Given the description of an element on the screen output the (x, y) to click on. 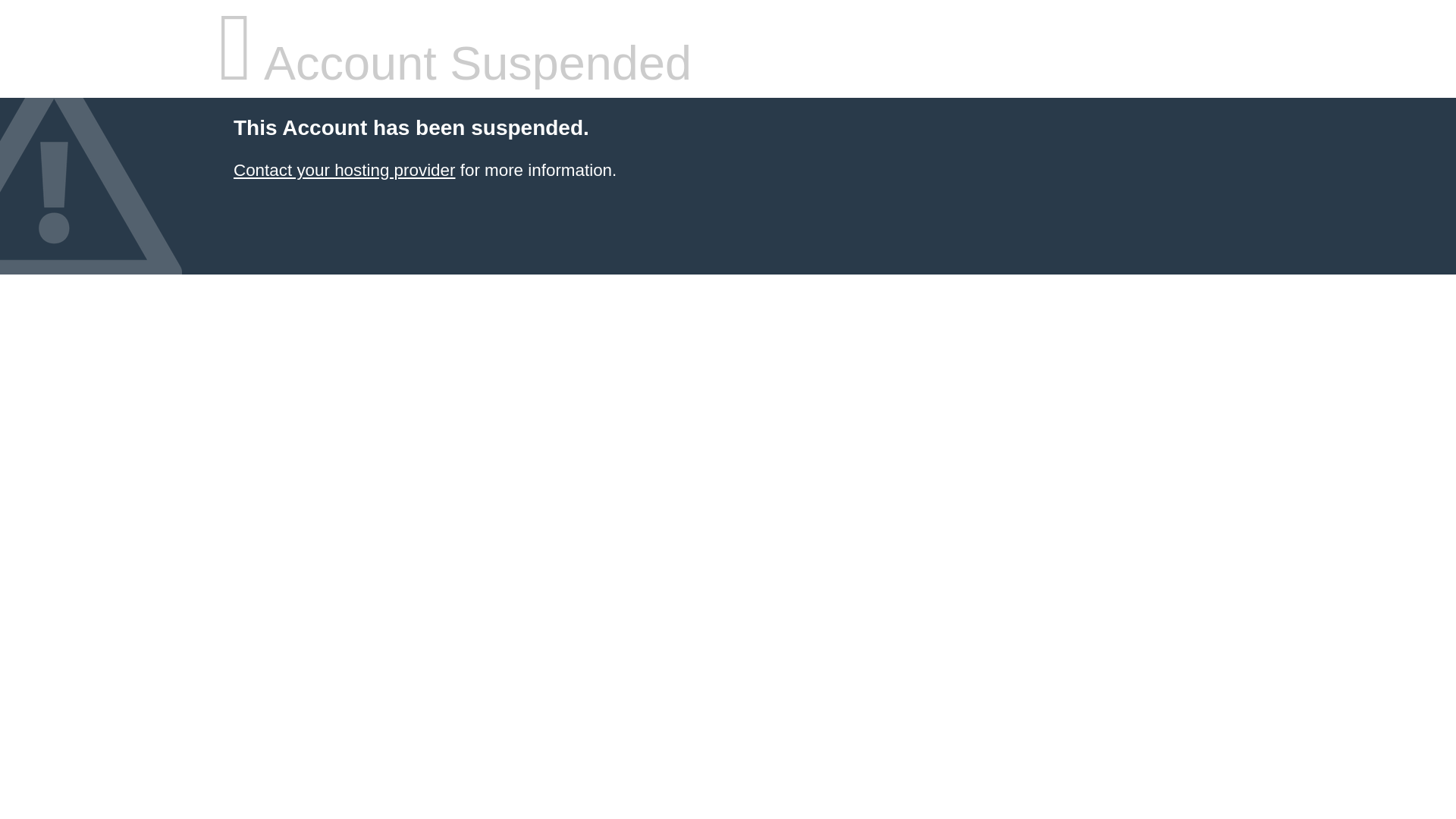
Contact your hosting provider (343, 169)
